Given the description of an element on the screen output the (x, y) to click on. 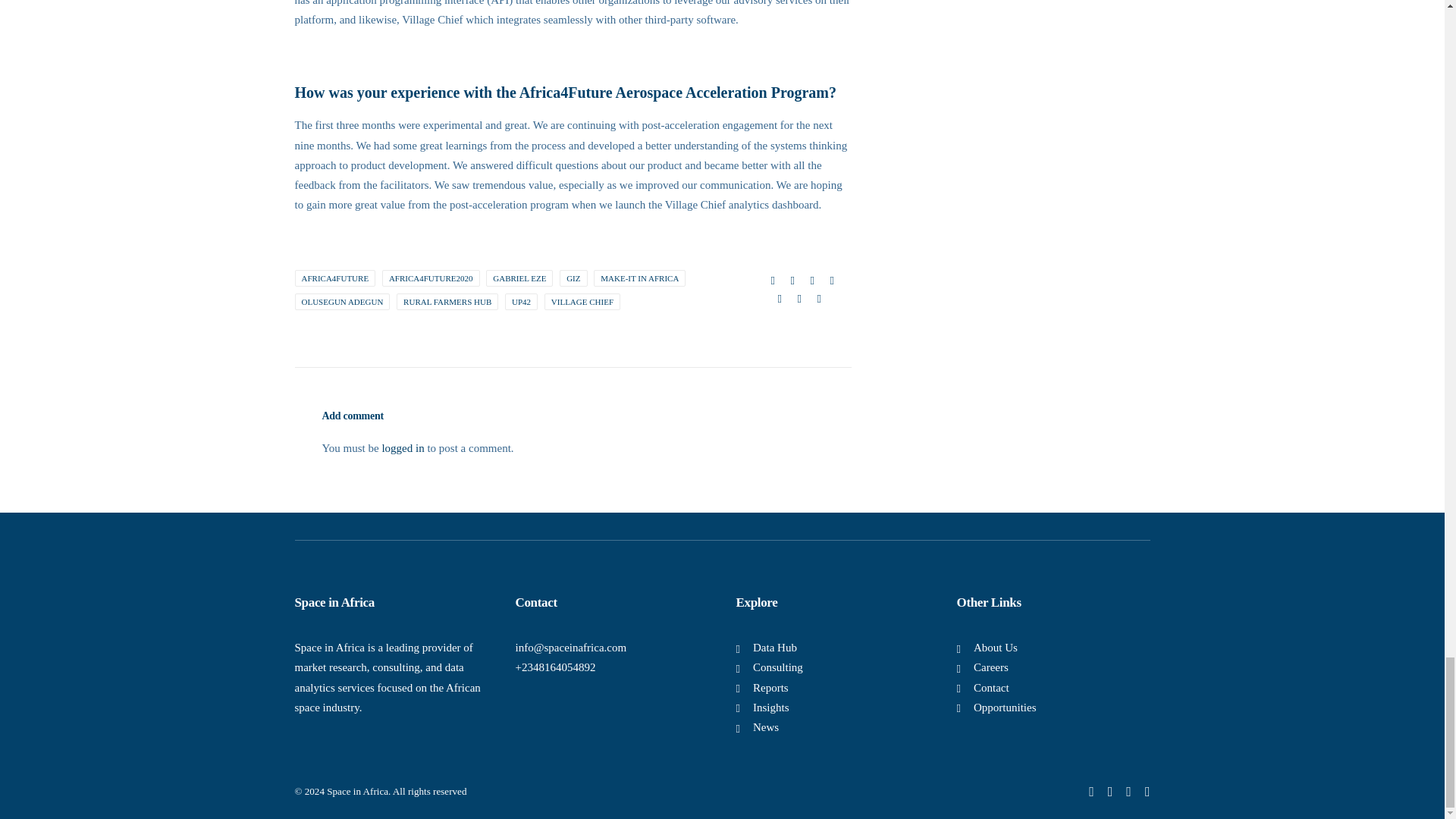
AFRICA4FUTURE2020 (430, 278)
GABRIEL EZE (519, 278)
AFRICA4FUTURE (334, 278)
MAKE-IT IN AFRICA (639, 278)
OLUSEGUN ADEGUN (342, 301)
logged in (402, 448)
RURAL FARMERS HUB (446, 301)
GIZ (572, 278)
VILLAGE CHIEF (582, 301)
UP42 (521, 301)
